Given the description of an element on the screen output the (x, y) to click on. 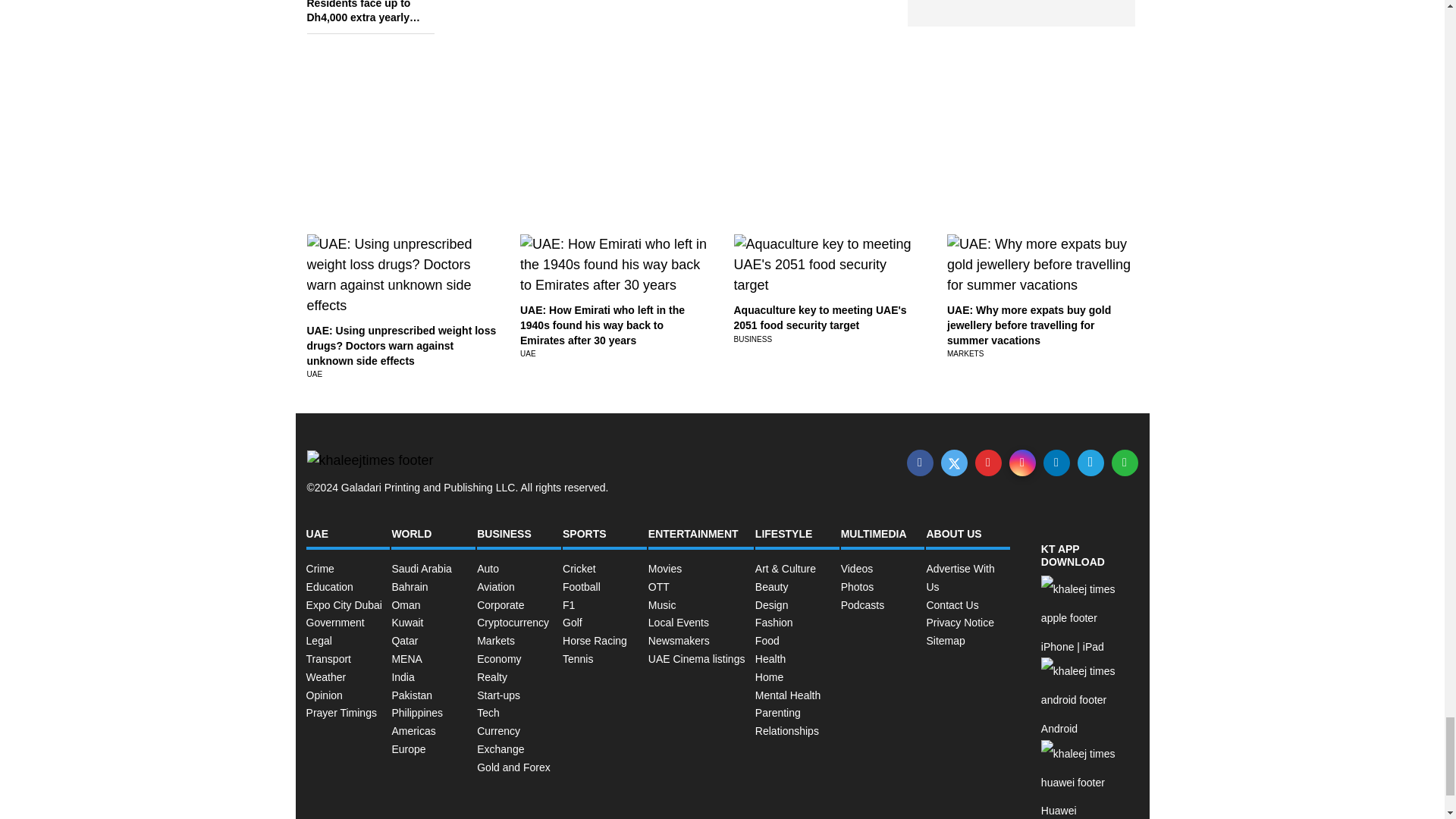
Aquaculture key to meeting UAE's 2051 food security target (820, 317)
